Given the description of an element on the screen output the (x, y) to click on. 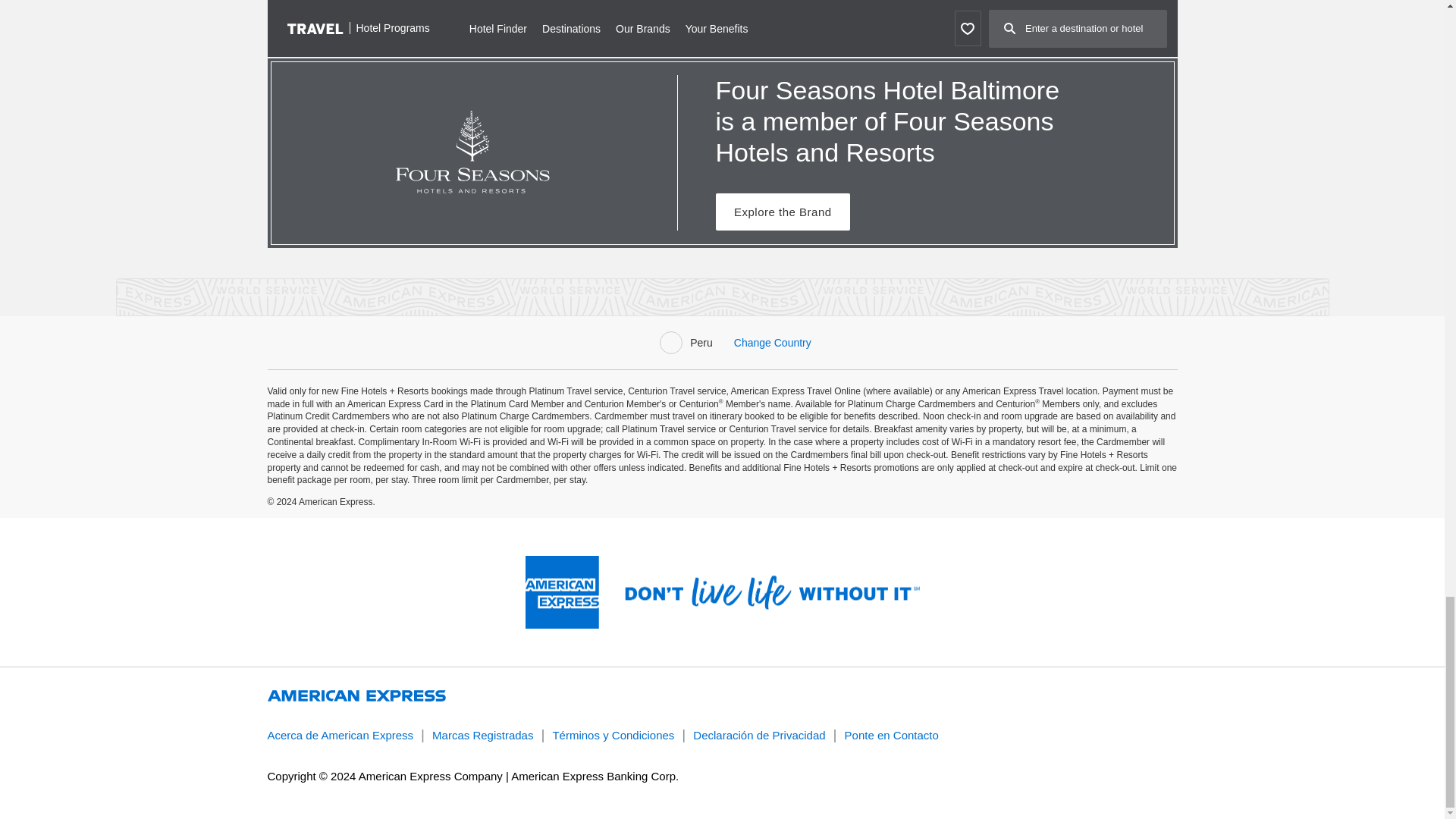
luxury hotels in Baltimore, Maryland US (535, 36)
Ponte en Contacto (891, 735)
Acerca de American Express (339, 735)
Marcas Registradas (482, 735)
